Given the description of an element on the screen output the (x, y) to click on. 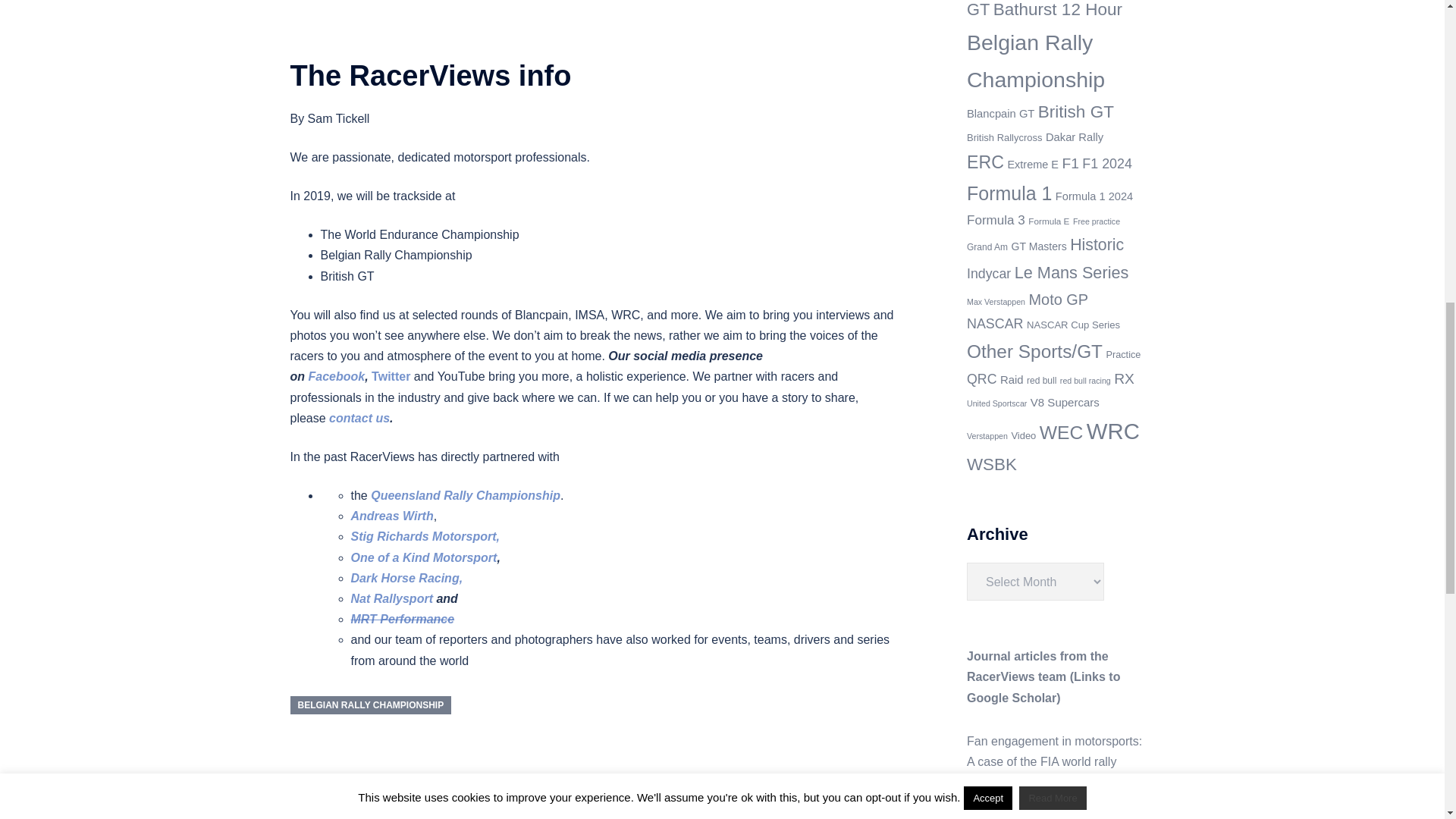
Contact us (359, 418)
